Given the description of an element on the screen output the (x, y) to click on. 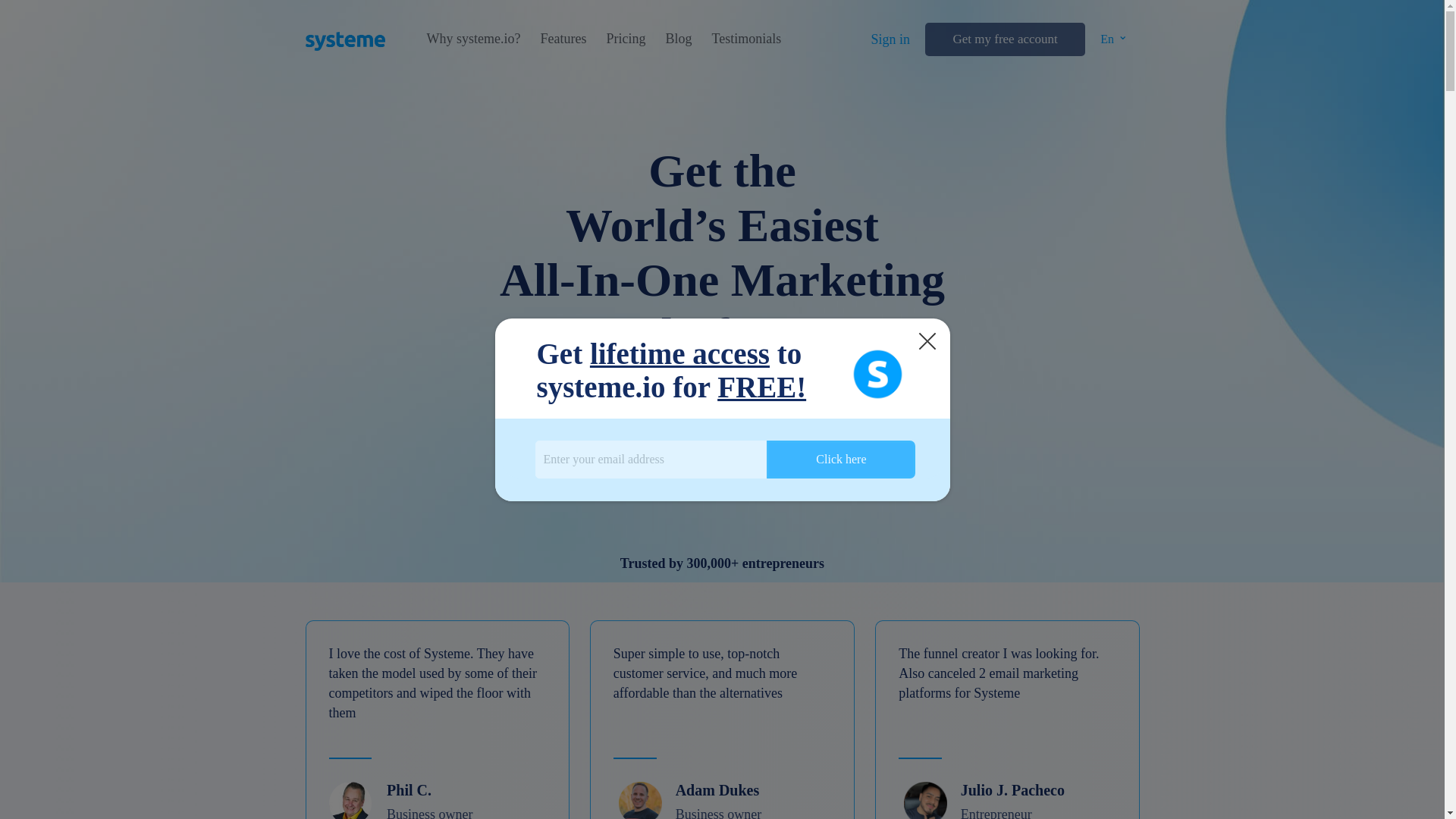
Sign in (890, 39)
Features (563, 38)
Get my free account (1004, 39)
Why systeme.io? (472, 38)
Testimonials (745, 38)
Blog (678, 38)
Pricing (625, 38)
